Given the description of an element on the screen output the (x, y) to click on. 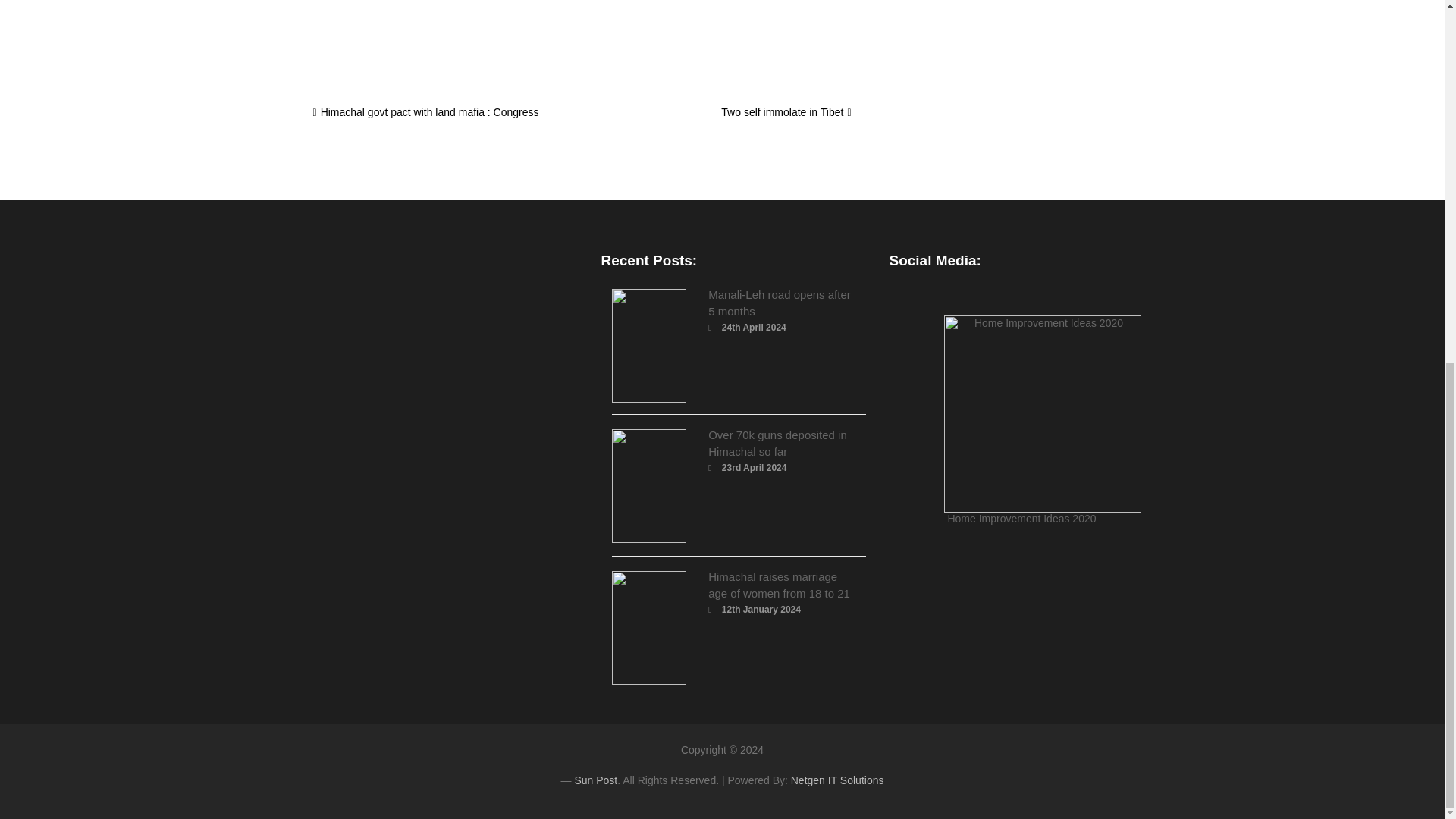
Manali-Leh road opens after 5 months (778, 302)
Home Improvement Ideas 2020 (1021, 419)
Over 70k guns deposited in Himachal so far (777, 442)
Himachal raises marriage age of women from 18 to 21 (778, 584)
Two self immolate in Tibet (785, 111)
Sun Post (595, 779)
Himachal govt pact with land mafia : Congress (425, 111)
Netgen IT Solutions (836, 779)
